Given the description of an element on the screen output the (x, y) to click on. 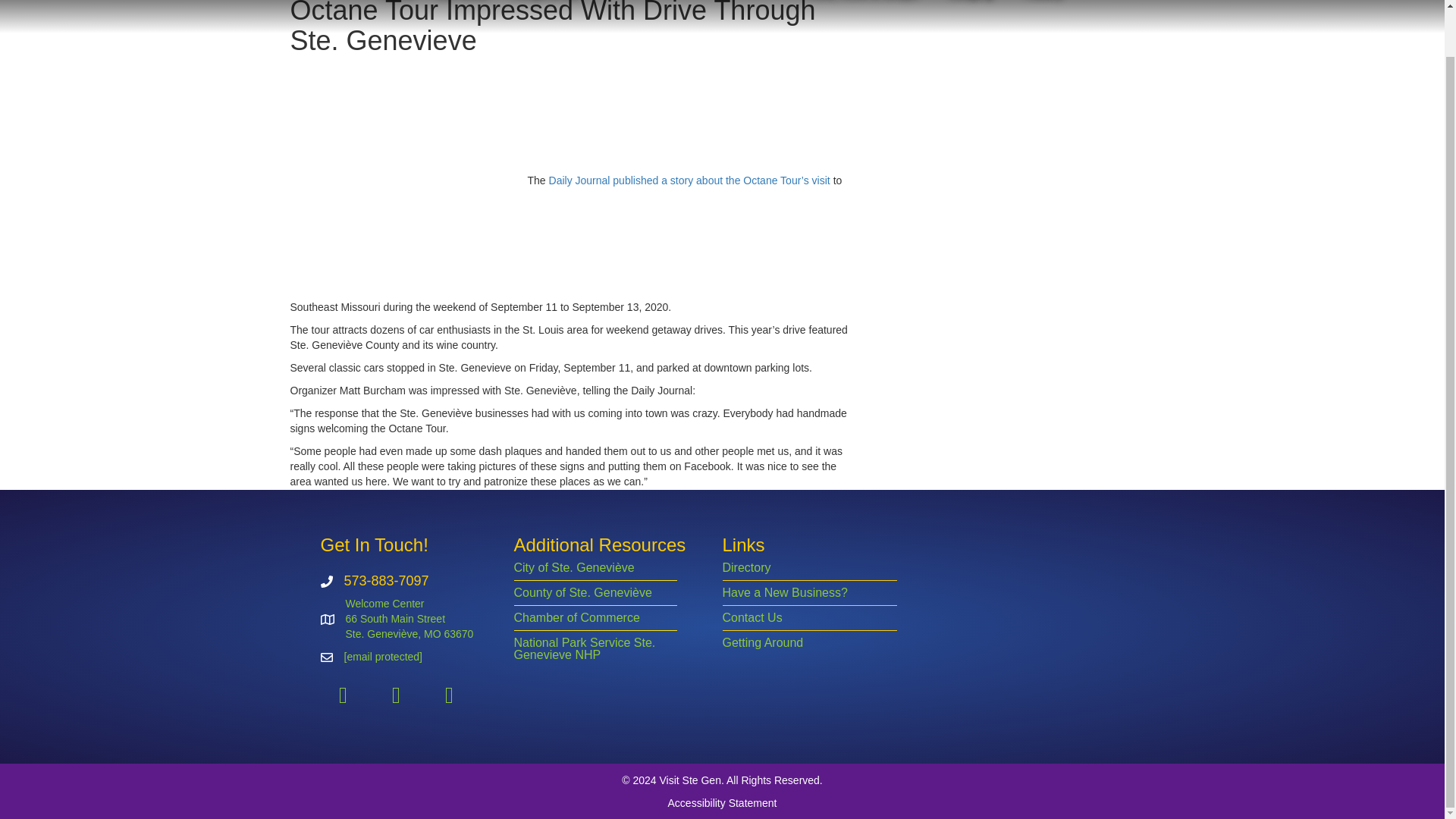
History (1044, 5)
Our Story (461, 5)
Lodging (976, 5)
Home (398, 5)
Instagram (395, 695)
Things to Do (549, 5)
YouTube (448, 695)
Facebook (342, 695)
